Given the description of an element on the screen output the (x, y) to click on. 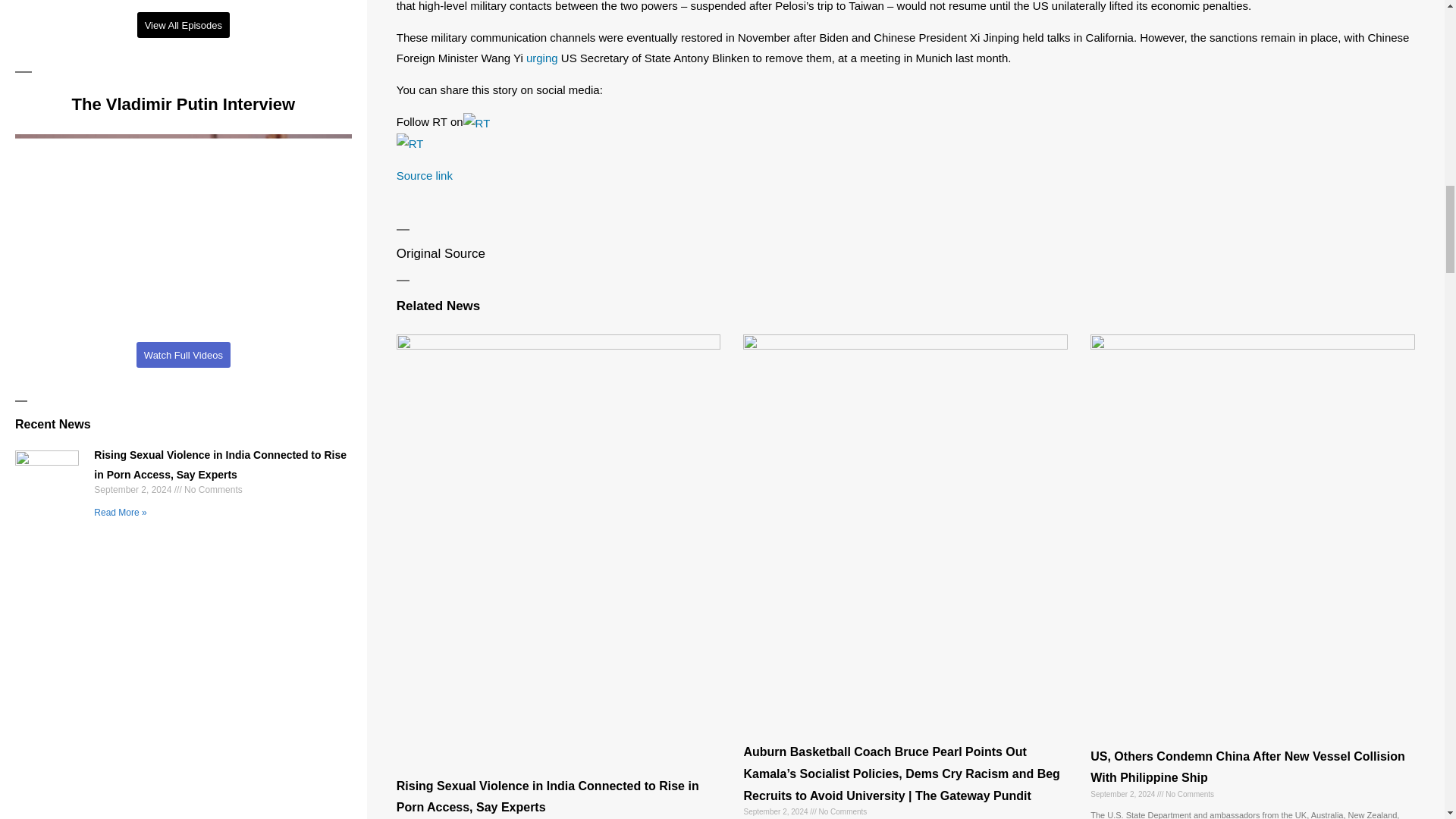
Watch Full Videos (183, 354)
View All Episodes (183, 24)
